Given the description of an element on the screen output the (x, y) to click on. 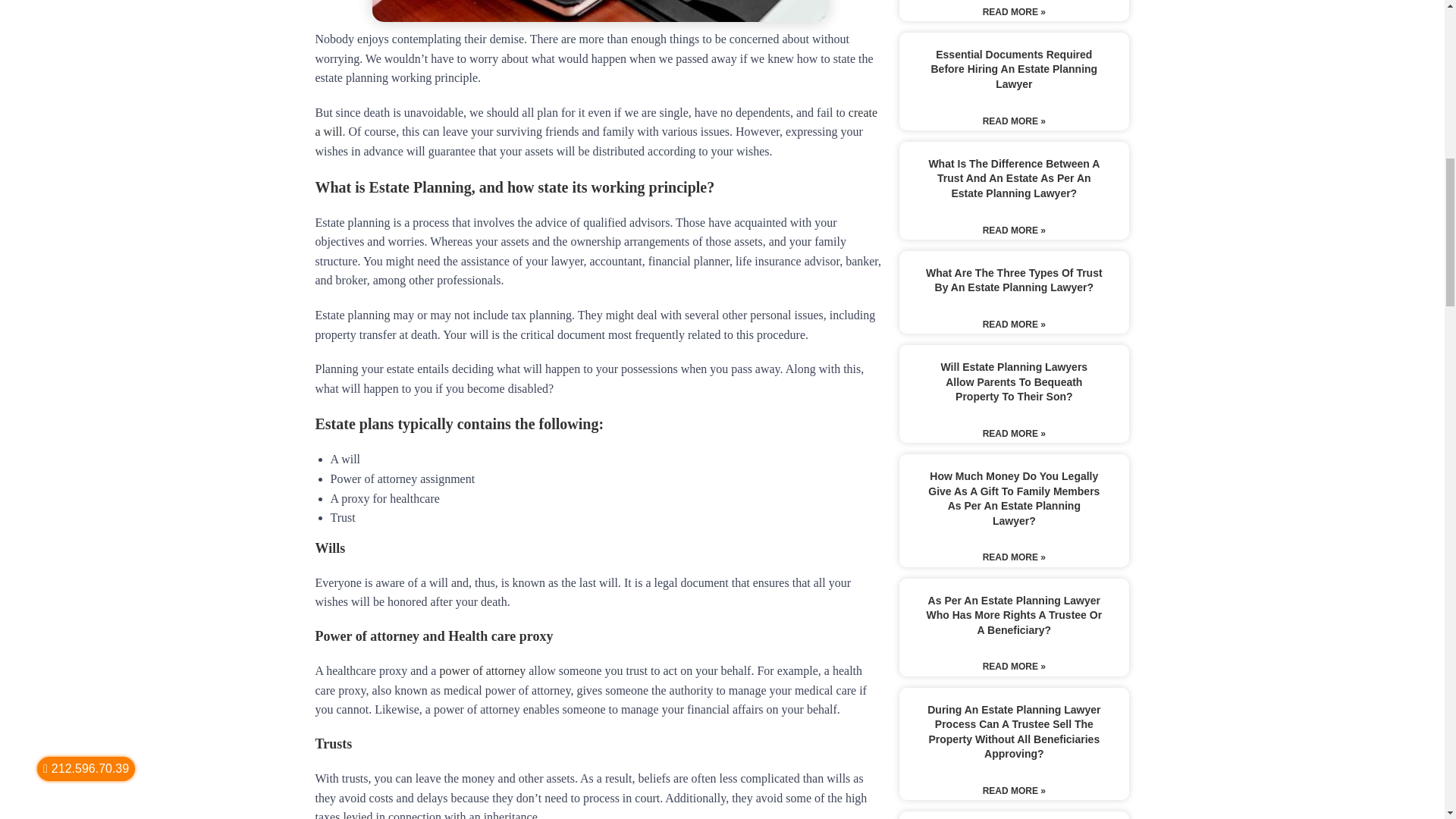
power of attorney (482, 670)
create a will (596, 122)
